Given the description of an element on the screen output the (x, y) to click on. 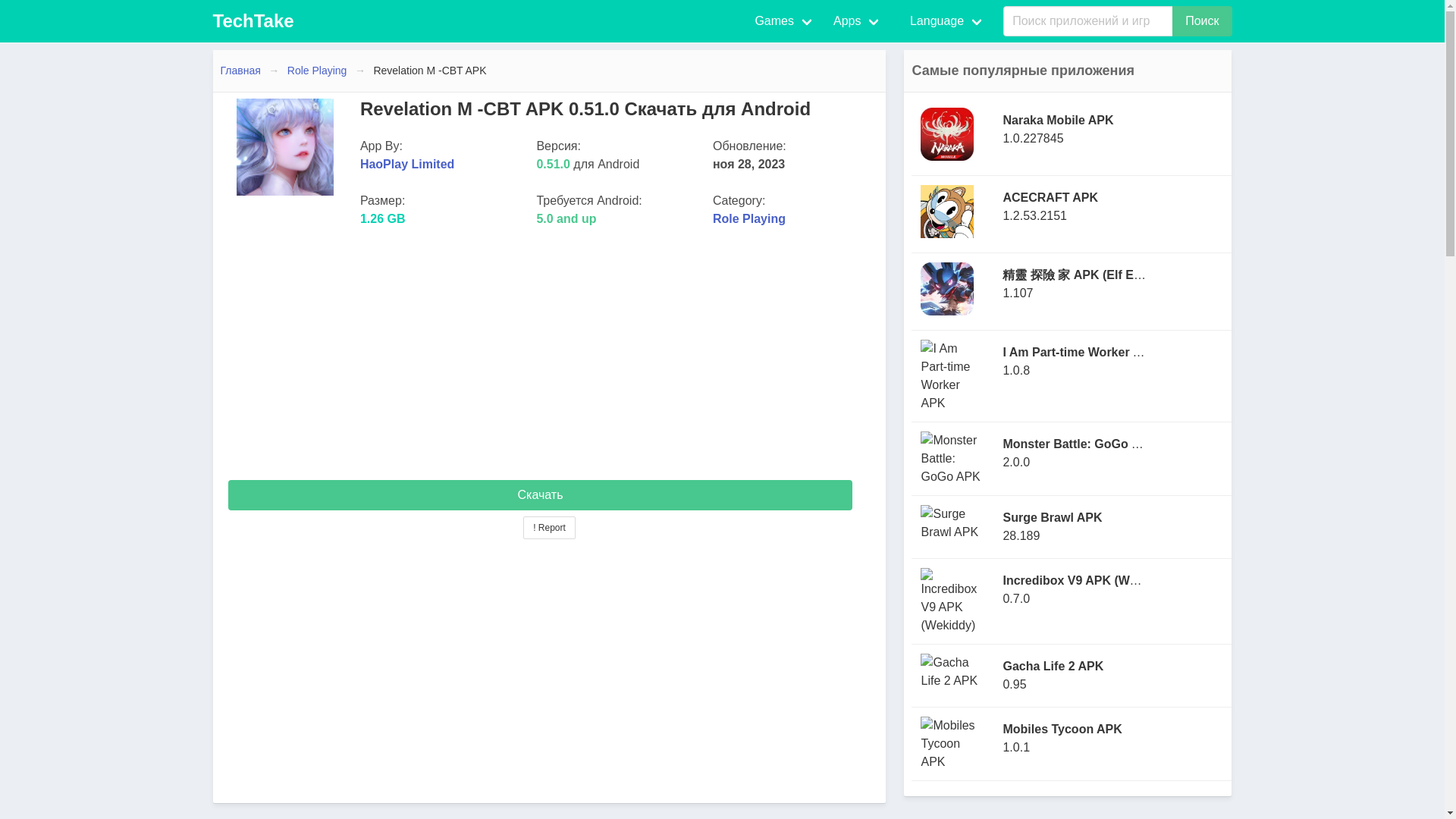
I Am Part-time Worker APK (1075, 375)
Monster Battle: GoGo APK (1075, 458)
Language (938, 21)
Monster Battle: GoGo APK (952, 458)
Naraka Mobile APK (947, 133)
ACECRAFT APK (1075, 214)
Naraka Mobile APK (1075, 136)
ACECRAFT APK (947, 211)
Apps (857, 21)
TechTake (252, 21)
Report Problem for this APP (548, 527)
Games (784, 21)
